Given the description of an element on the screen output the (x, y) to click on. 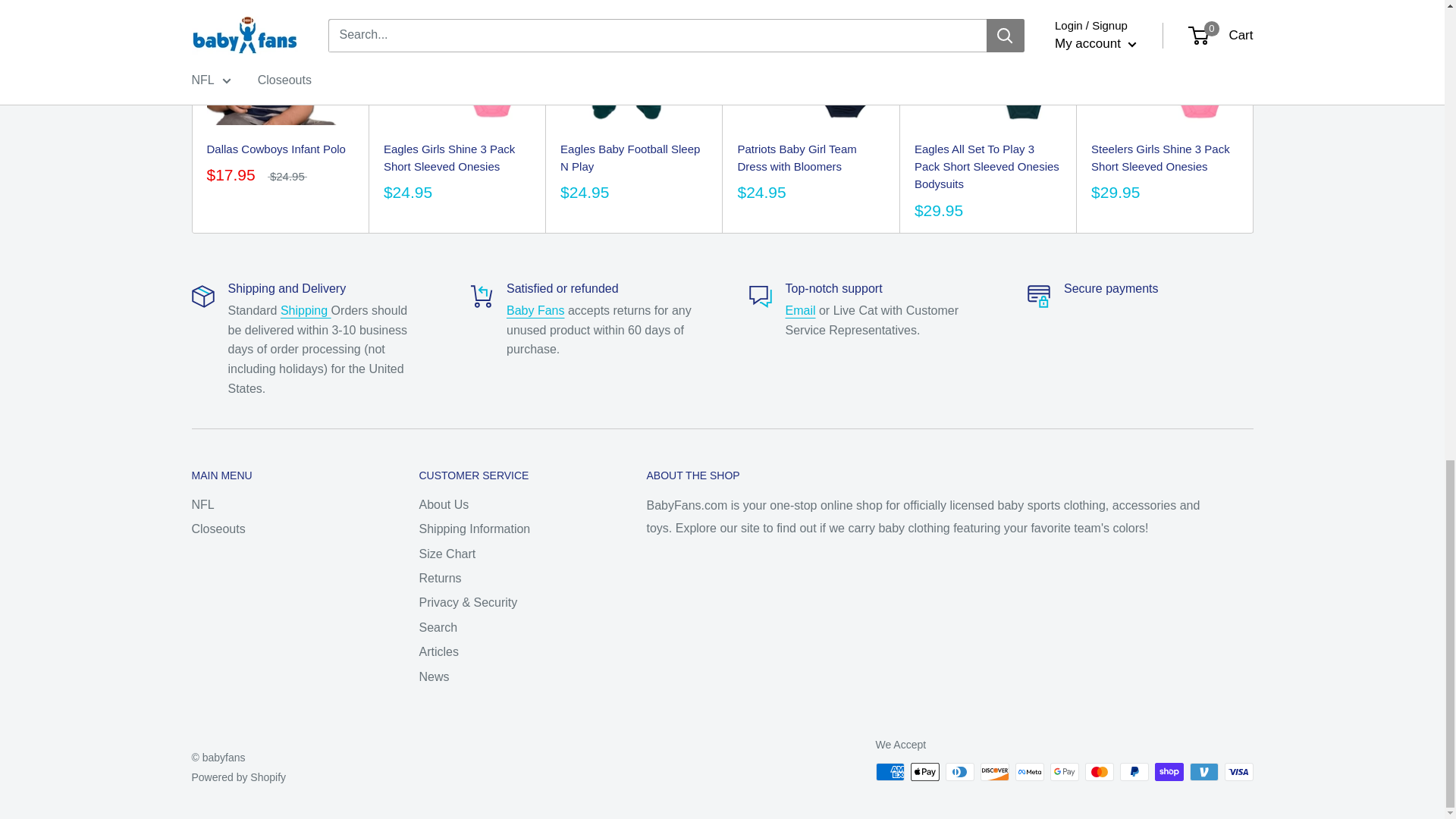
Contact Us (800, 309)
Returns (535, 309)
Shipping Policy (306, 309)
